Given the description of an element on the screen output the (x, y) to click on. 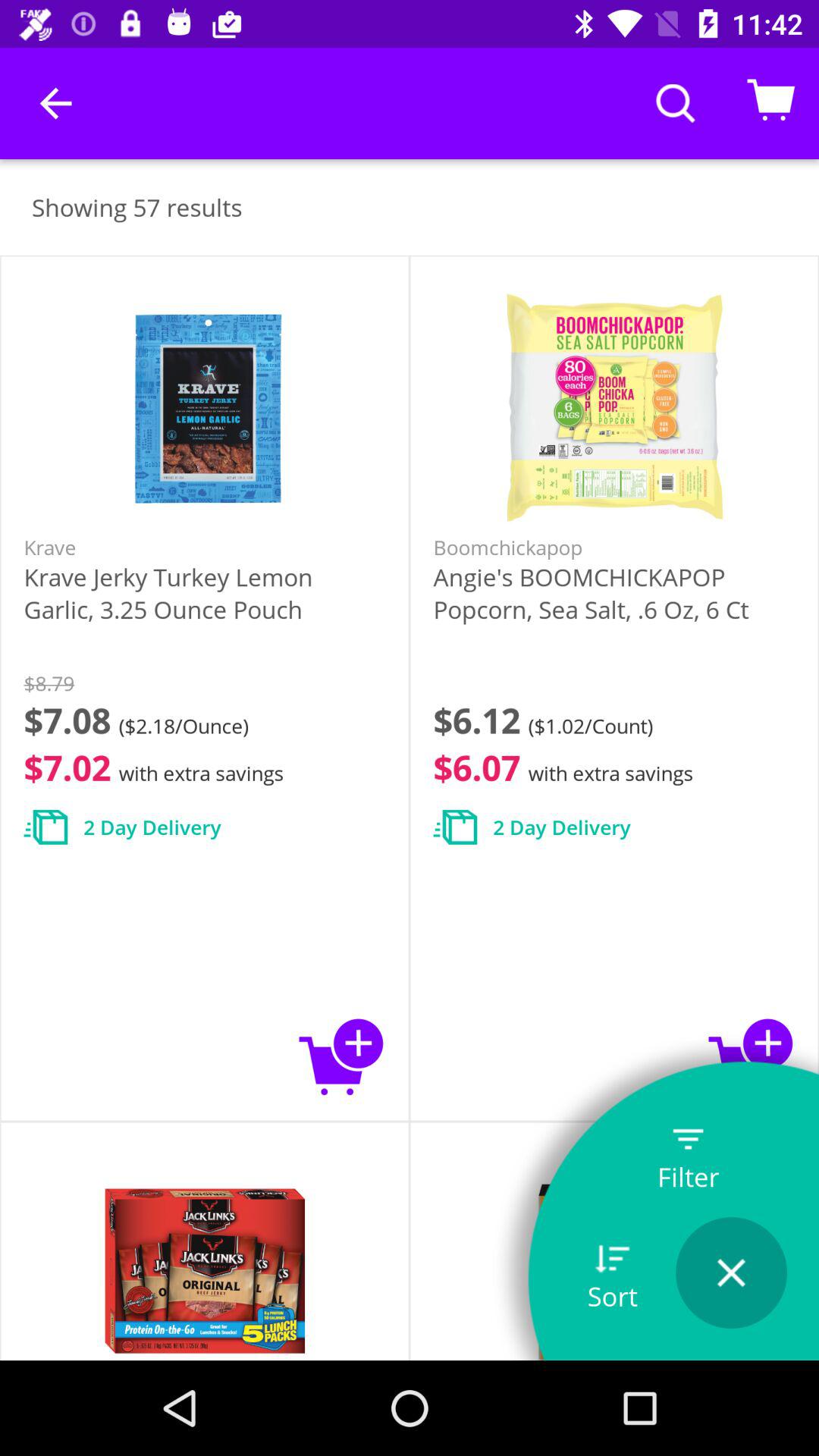
add to cart (751, 1056)
